Given the description of an element on the screen output the (x, y) to click on. 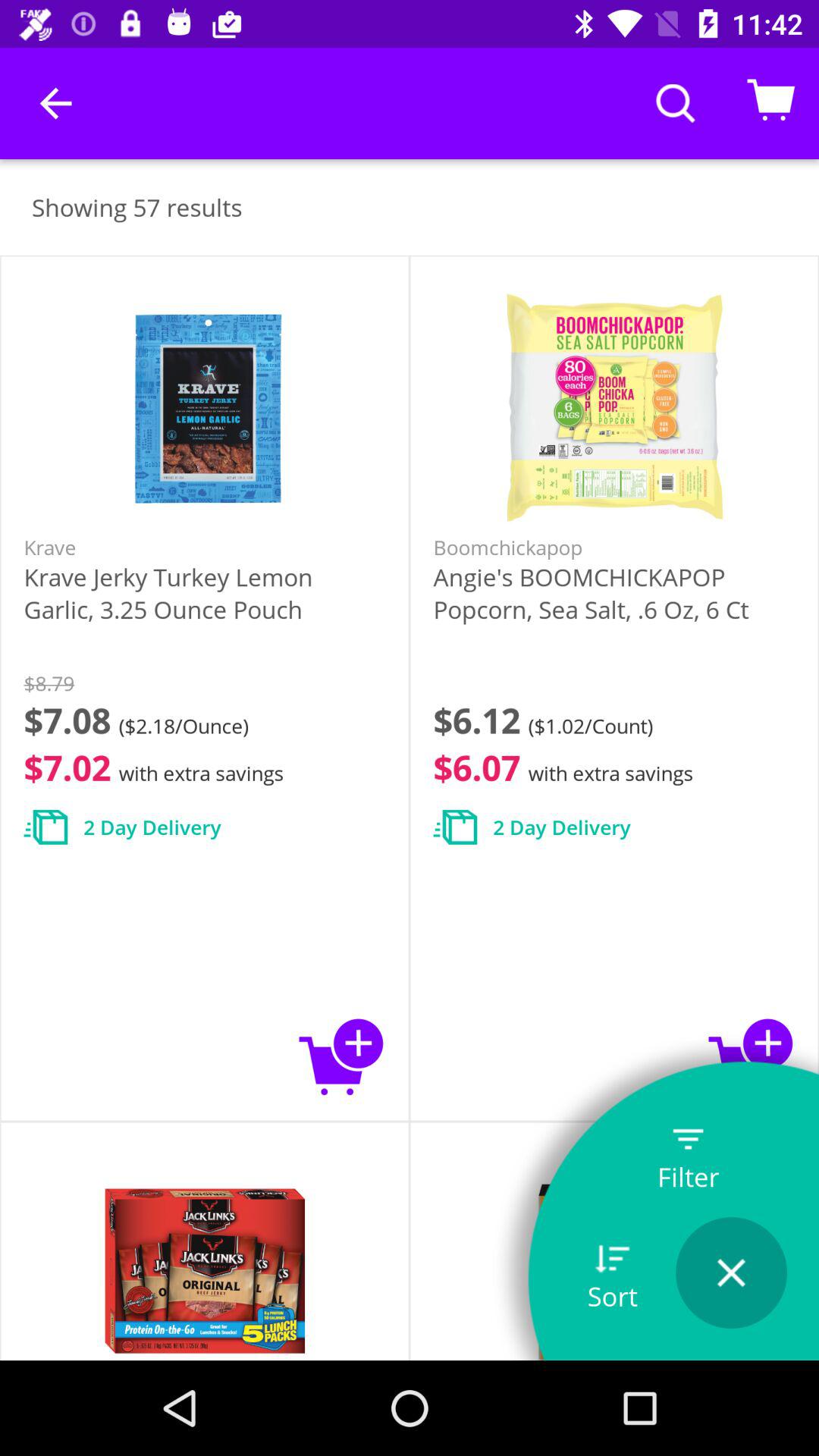
add to cart (751, 1056)
